Given the description of an element on the screen output the (x, y) to click on. 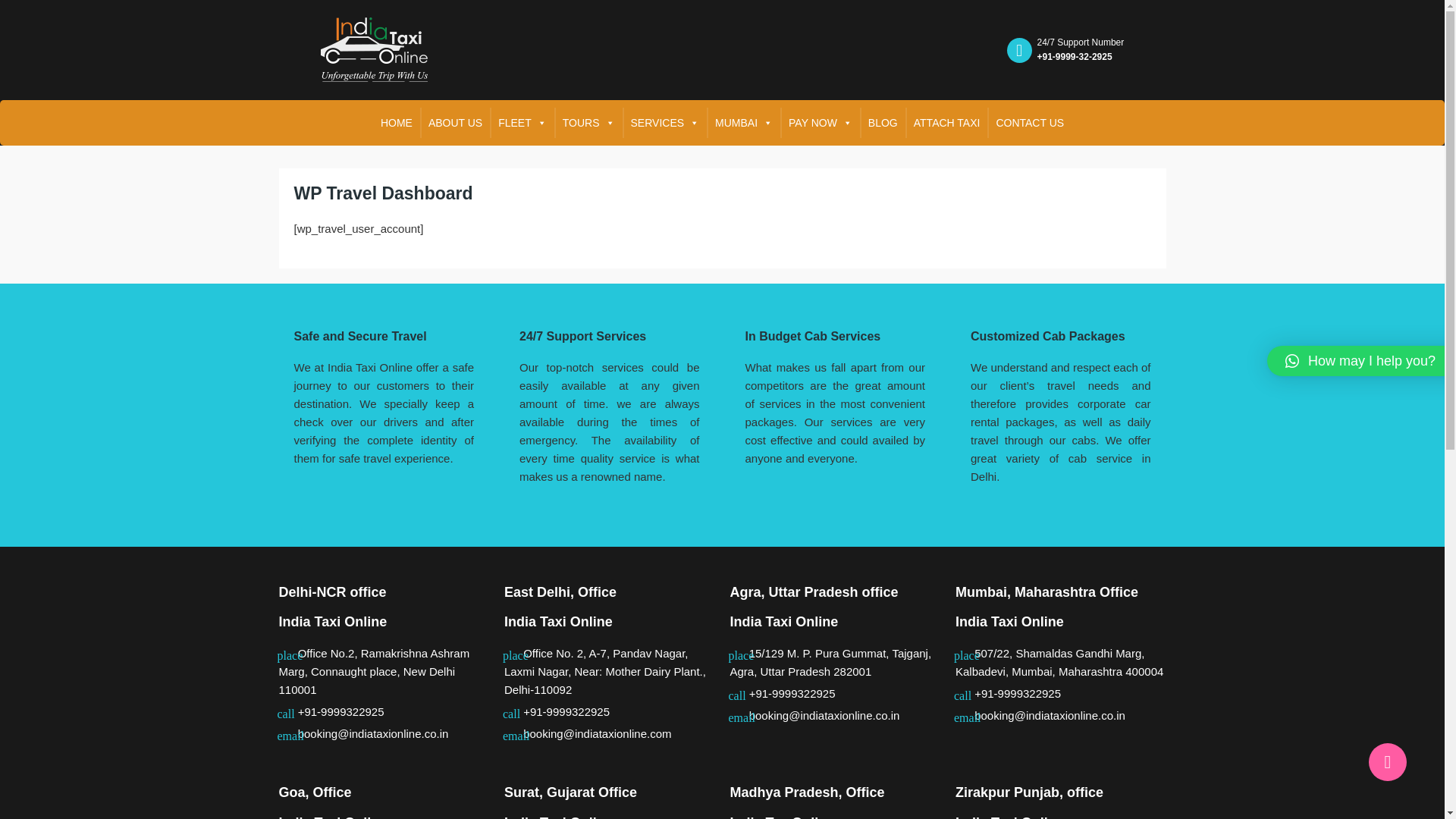
Back up (1387, 761)
FLEET (522, 122)
ABOUT US (454, 122)
HOME (396, 122)
TOURS (588, 122)
